Given the description of an element on the screen output the (x, y) to click on. 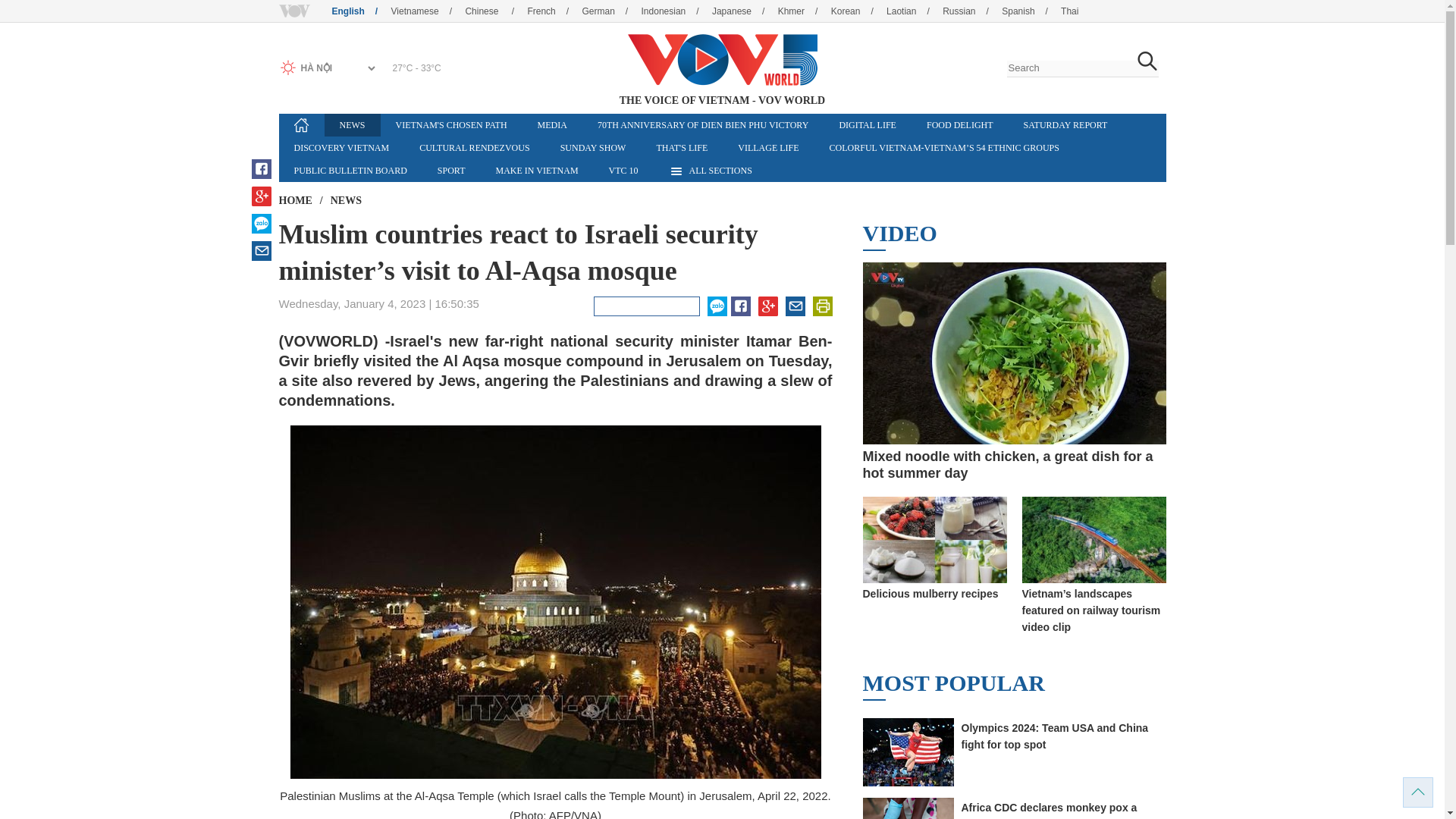
French (553, 10)
SATURDAY REPORT (1065, 124)
Media (552, 124)
SPORT (451, 169)
Thai (1069, 10)
Cultural Rendezvous (474, 147)
Digital life (867, 124)
THE VOICE OF VIETNAM - VOV WORLD (721, 59)
VILLAGE LIFE (767, 147)
German (609, 10)
